Given the description of an element on the screen output the (x, y) to click on. 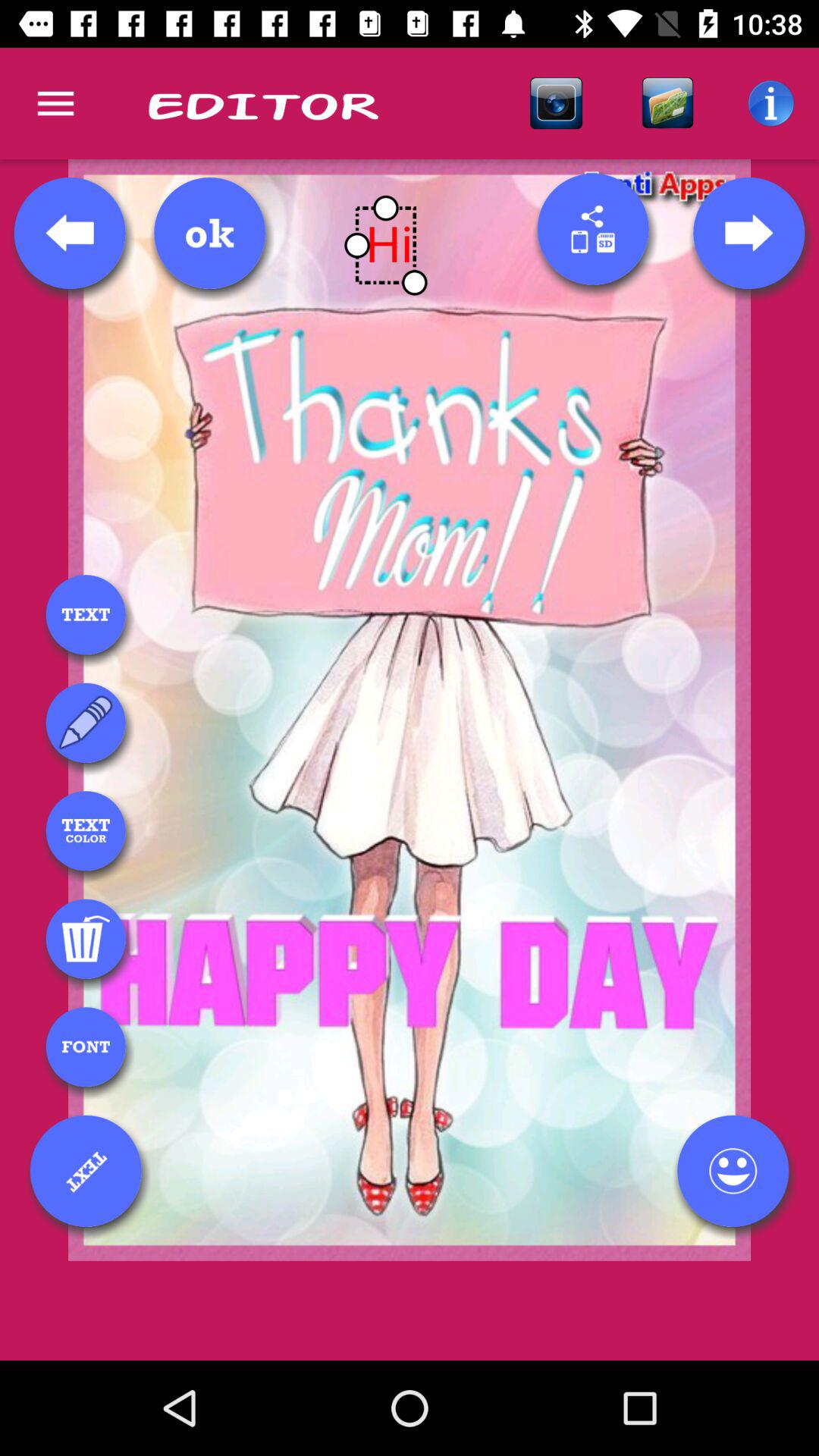
change font (85, 1047)
